Given the description of an element on the screen output the (x, y) to click on. 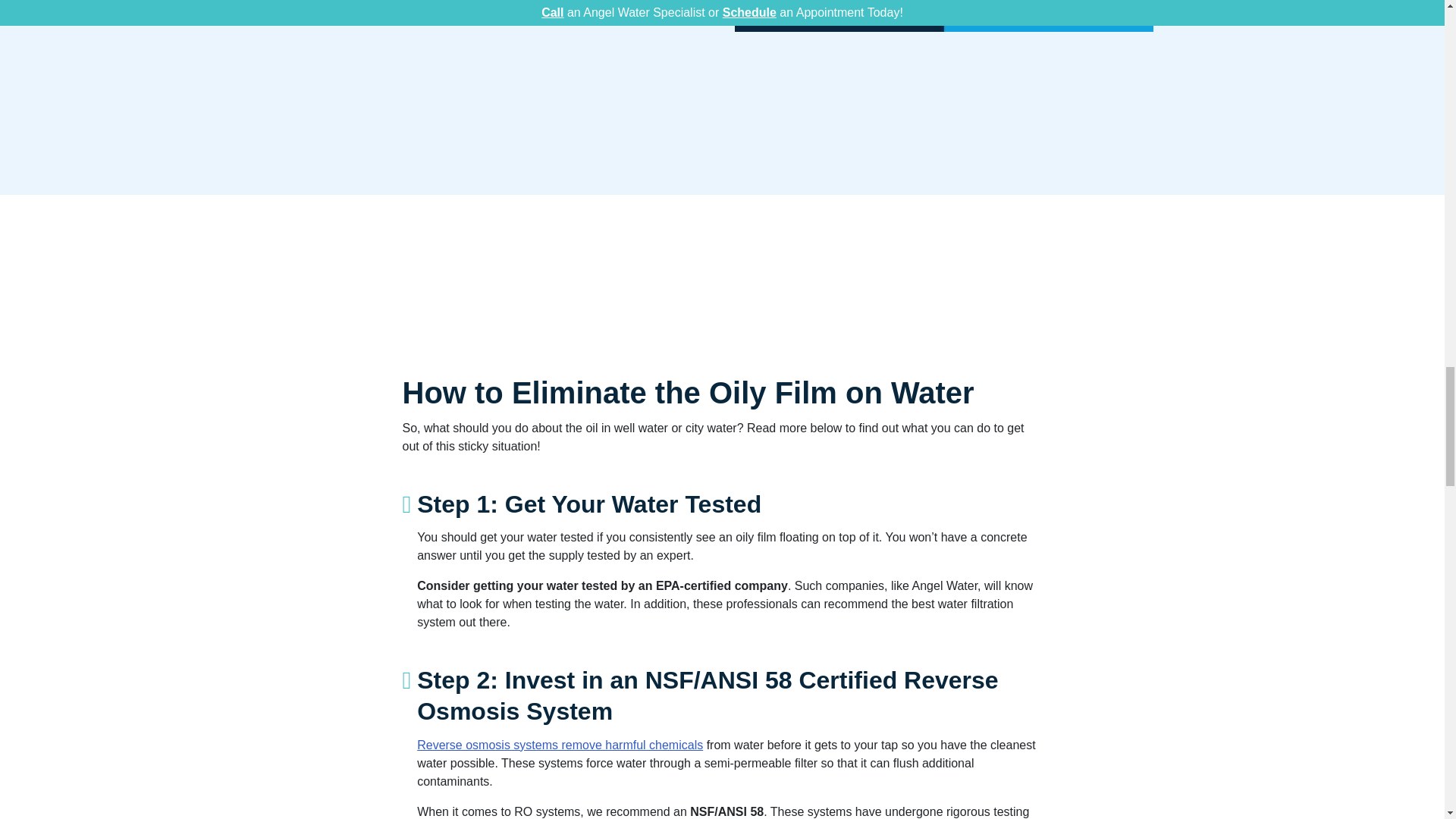
Oily Film on Water Graphic Angel Water (943, 16)
